Given the description of an element on the screen output the (x, y) to click on. 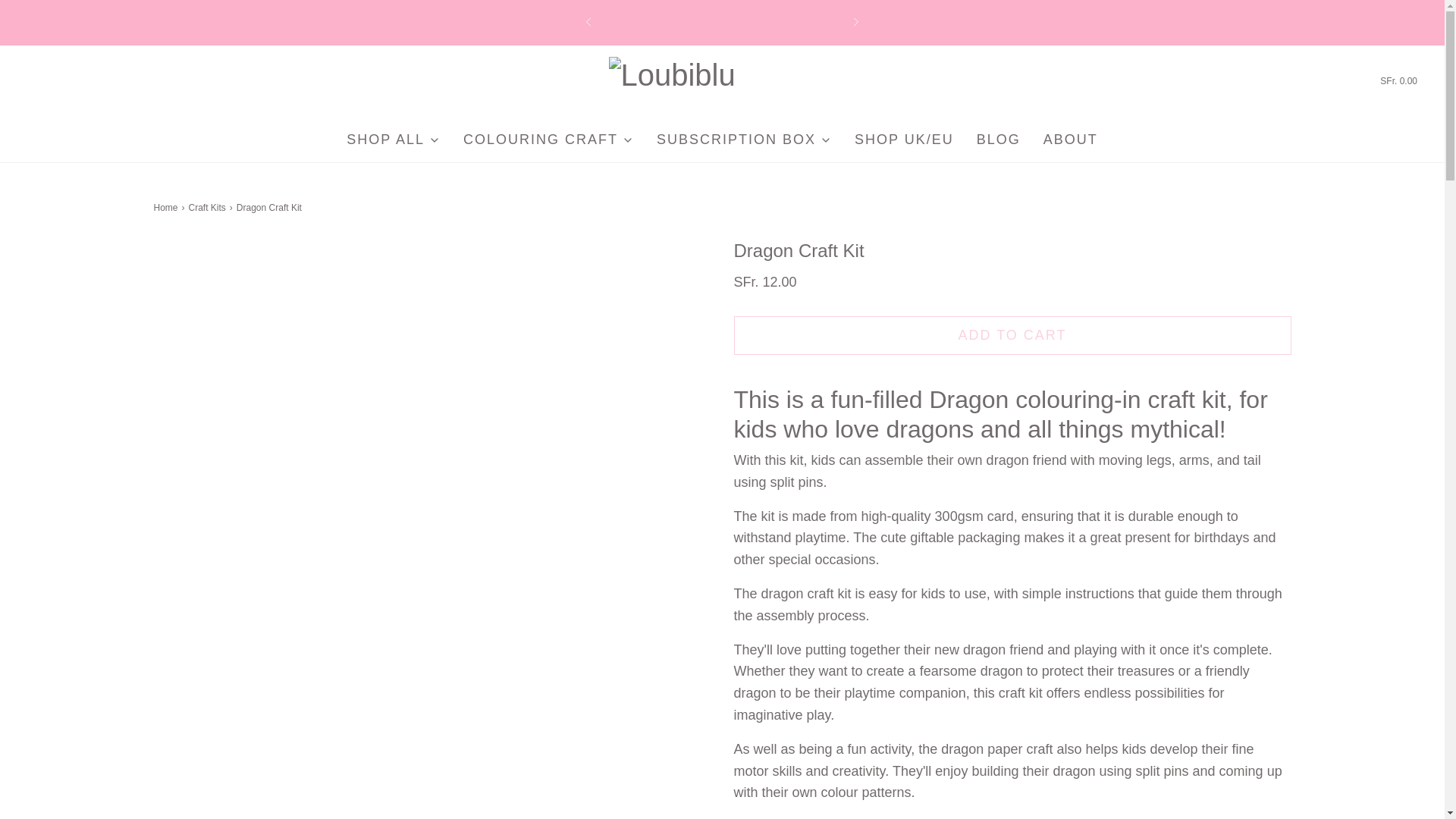
Back to the frontpage (166, 207)
SFr. 0.00 (1397, 81)
SHOP ALL (393, 139)
Cart (1397, 81)
